Given the description of an element on the screen output the (x, y) to click on. 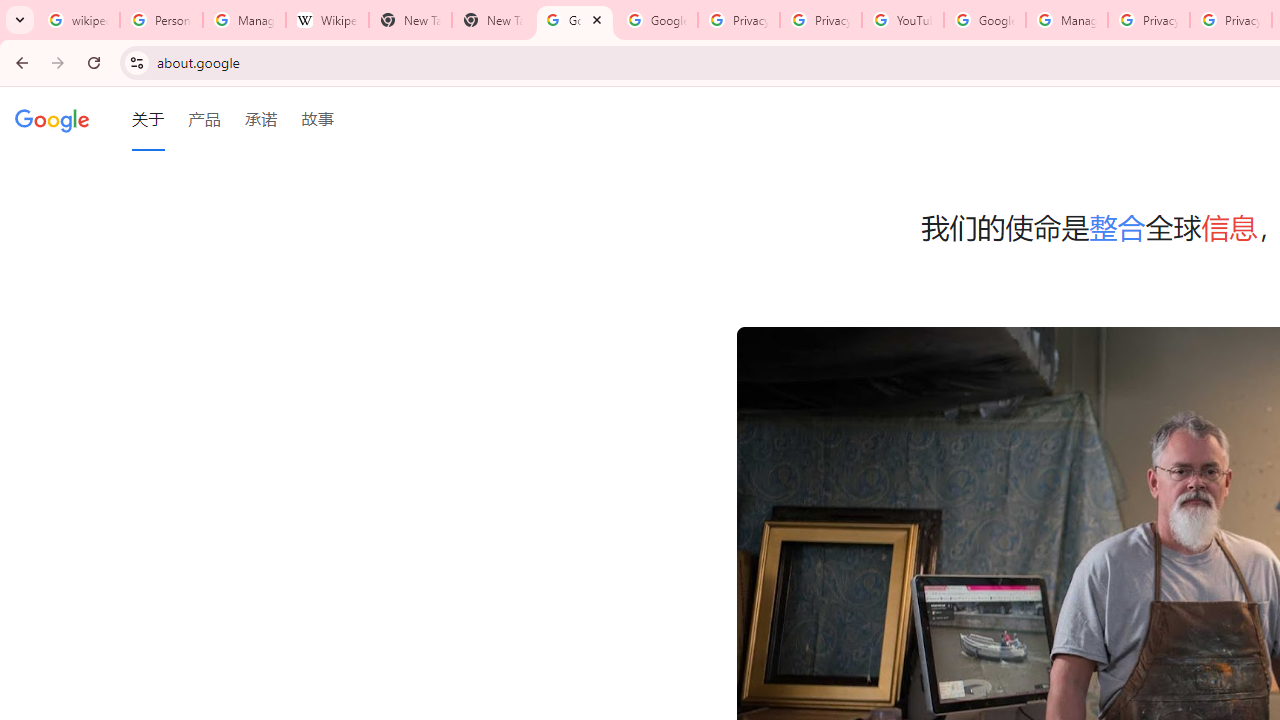
Manage your Location History - Google Search Help (244, 20)
Google (52, 119)
YouTube (902, 20)
Wikipedia:Edit requests - Wikipedia (326, 20)
